Given the description of an element on the screen output the (x, y) to click on. 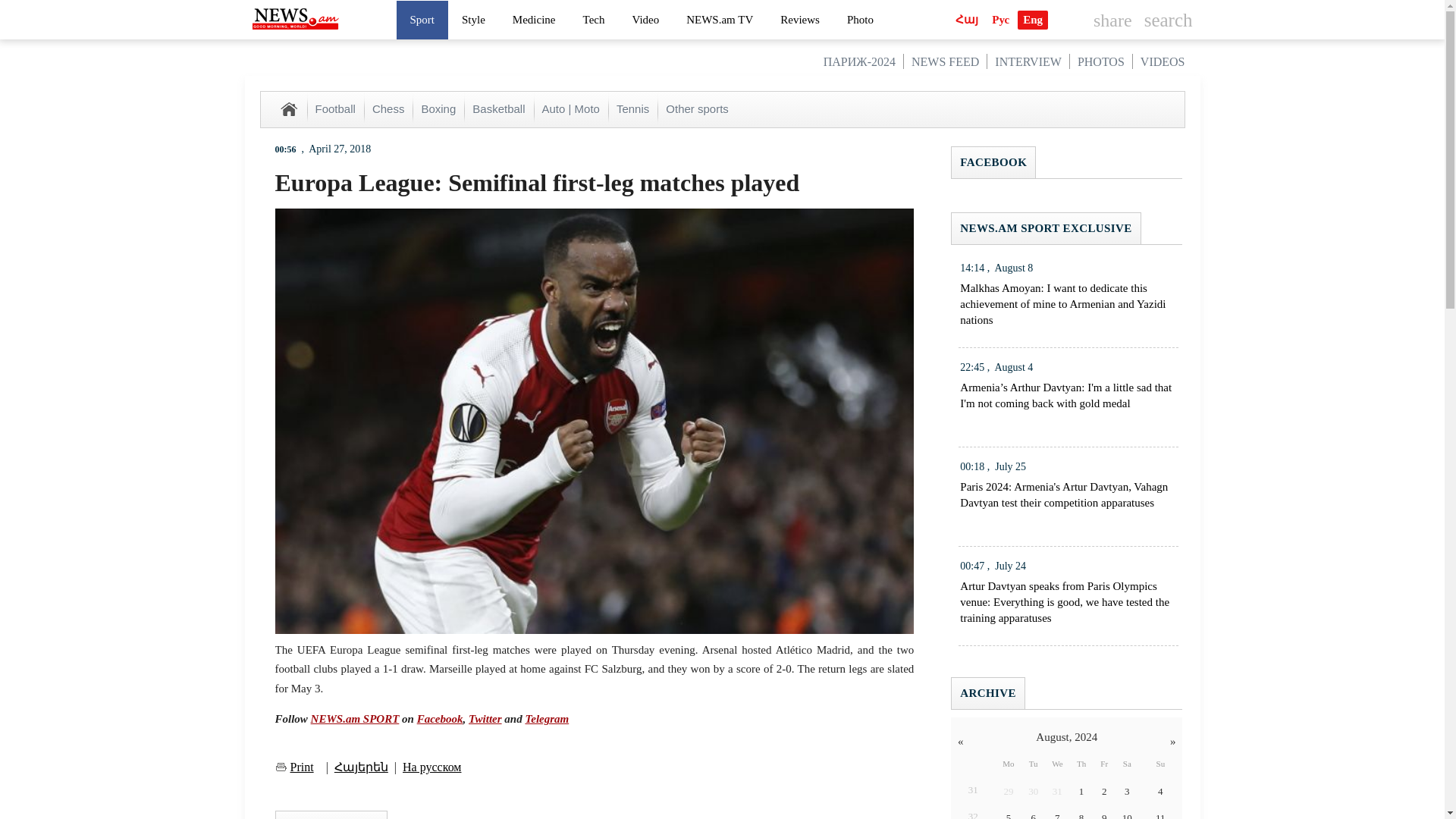
Style (473, 19)
NEWS FEED (944, 61)
PHOTOS (1100, 61)
Medicine (534, 19)
Photo (859, 19)
INTERVIEW (1027, 61)
Eng (1032, 19)
Eng (1032, 19)
Video (644, 19)
VIDEOS (1162, 61)
